Given the description of an element on the screen output the (x, y) to click on. 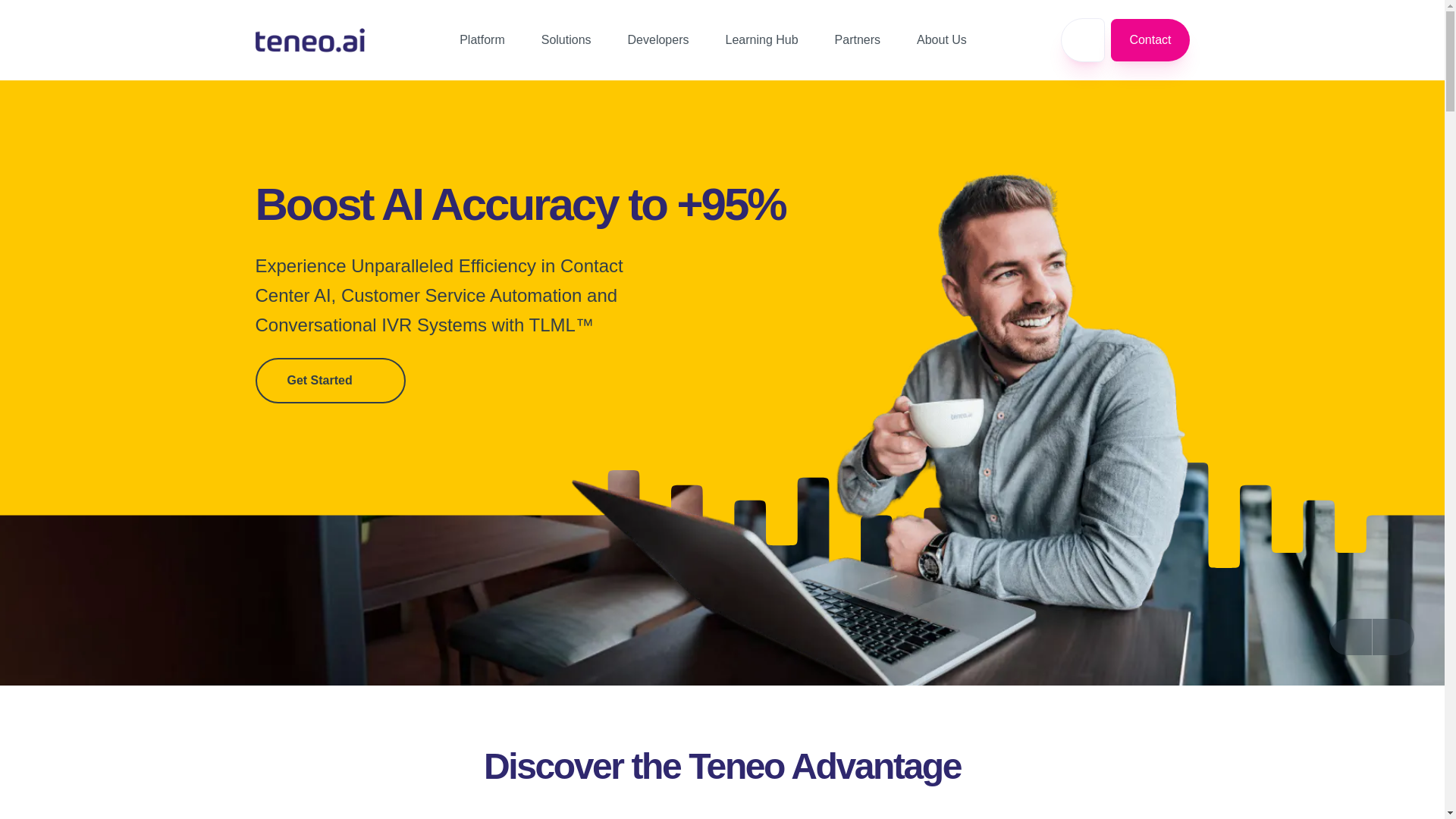
Partners (866, 39)
Learning Hub (770, 39)
Platform (491, 39)
Developers (667, 39)
About Us (951, 39)
Get Started (329, 380)
Teneo.AI (309, 40)
Contact (1147, 39)
Solutions (575, 39)
